Given the description of an element on the screen output the (x, y) to click on. 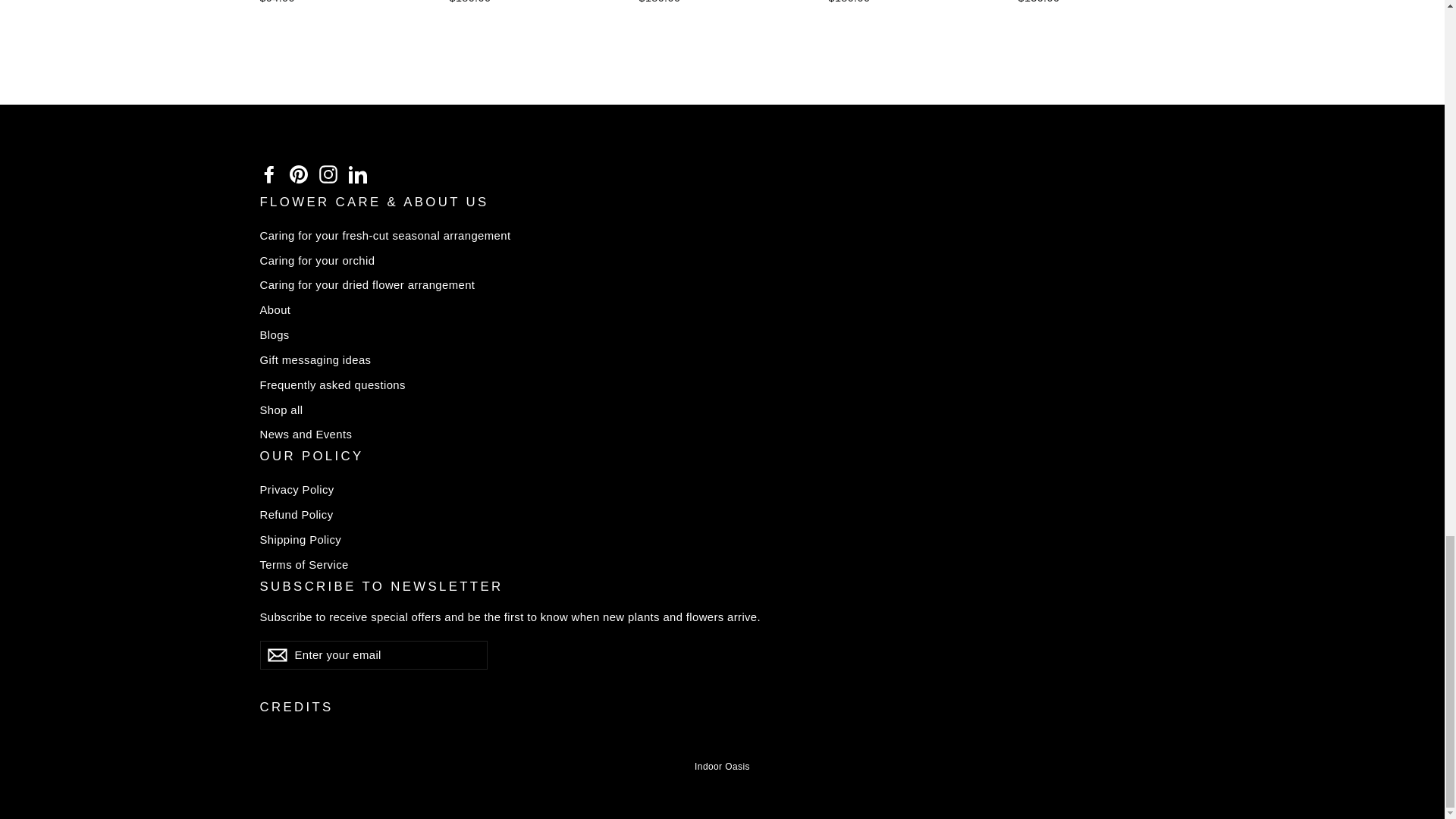
Real Flowers Every Day  on Facebook (268, 174)
Real Flowers Every Day  on LinkedIn (357, 174)
Real Flowers Every Day  on Pinterest (298, 174)
Real Flowers Every Day  on Instagram (327, 174)
